Given the description of an element on the screen output the (x, y) to click on. 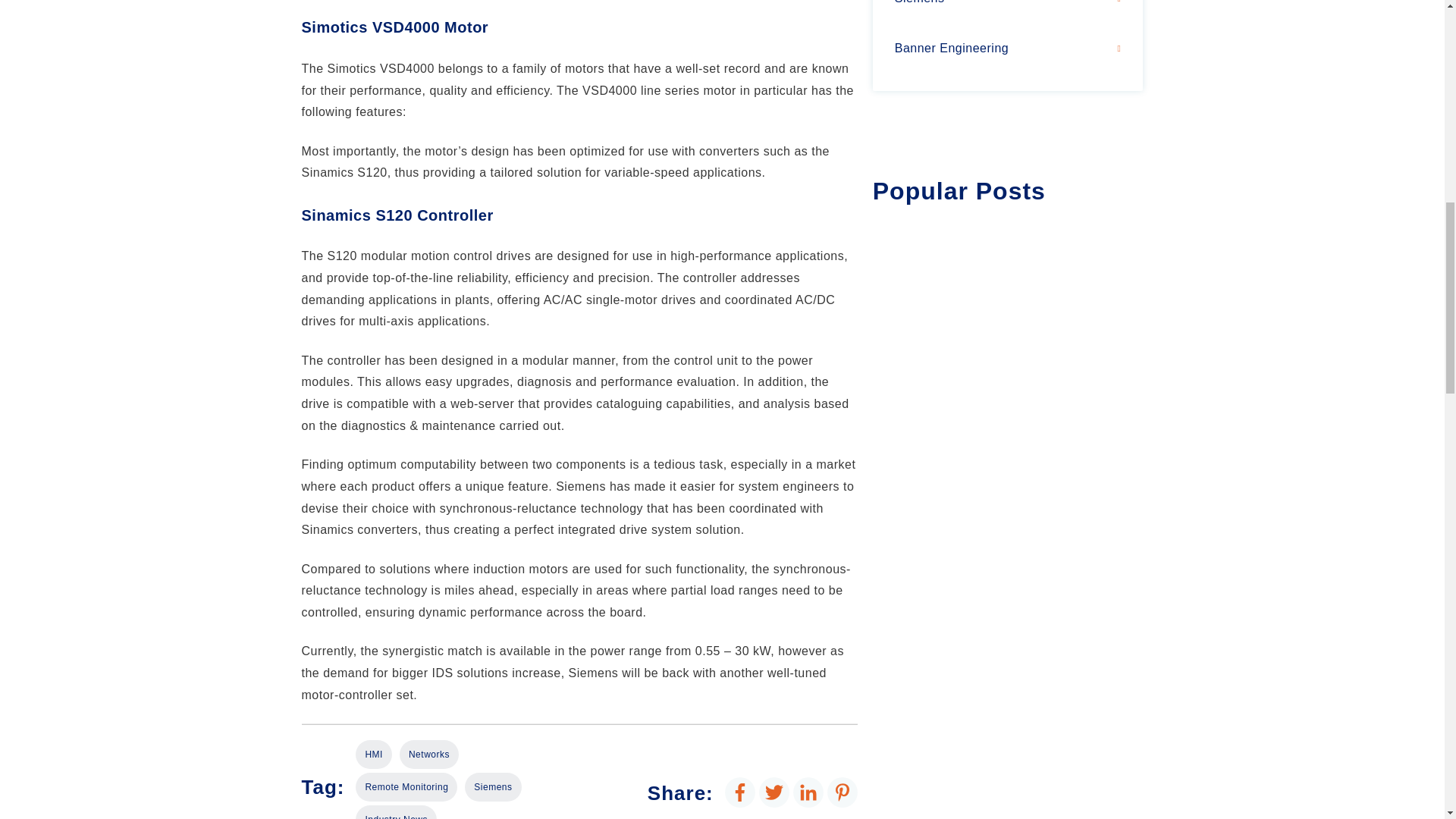
Follow us on Linkedin (807, 791)
HMI (373, 754)
Follow us on Pinterest (842, 792)
Follow us on Twitter (774, 791)
Industry News (395, 812)
Siemens (492, 787)
Follow us on Linkedin (808, 792)
Networks (428, 754)
Follow us on Pinterest (841, 791)
Remote Monitoring (406, 787)
Follow us on Twitter (773, 792)
Follow us on Facebook (739, 791)
Follow us on Facebook (740, 792)
